Given the description of an element on the screen output the (x, y) to click on. 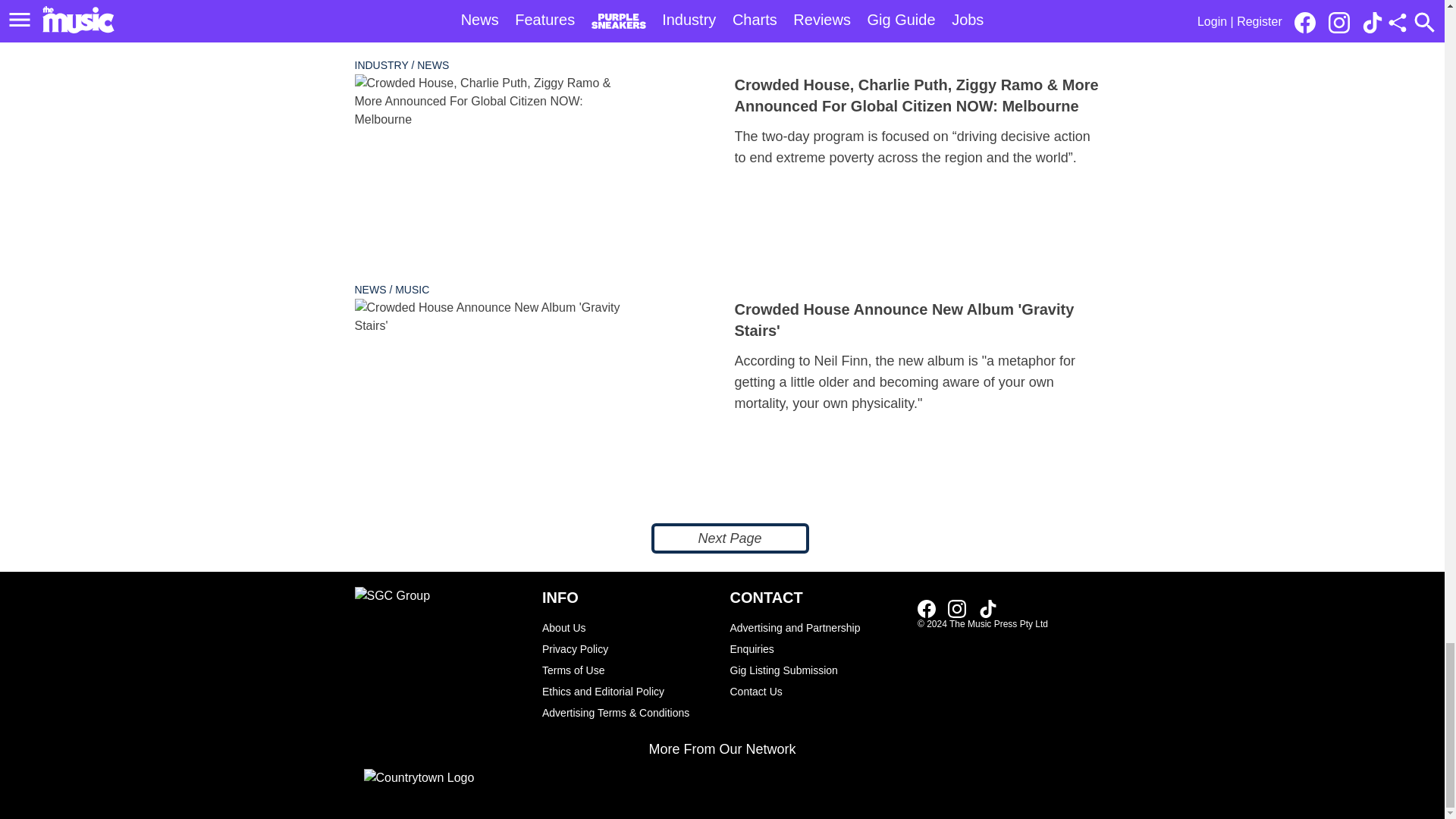
Link to our TikTok (987, 608)
Link to our Facebook (926, 608)
Link to our Instagram (956, 608)
